Given the description of an element on the screen output the (x, y) to click on. 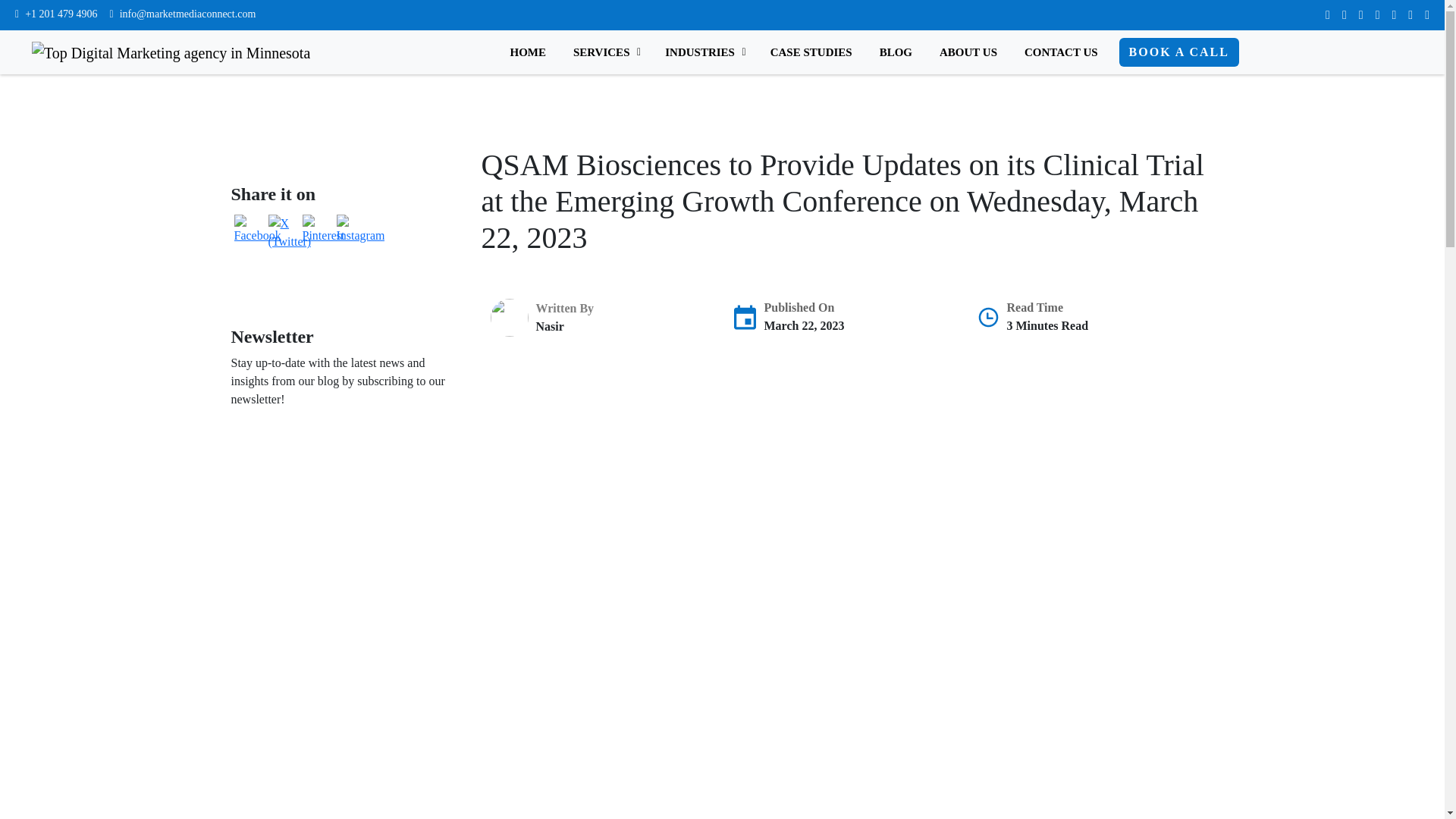
BOOK A CALL (1179, 51)
Facebook (256, 229)
SERVICES (605, 52)
CONTACT US (1060, 52)
HOME (527, 52)
ABOUT US (968, 52)
INDUSTRIES (703, 52)
Top Digital Marketing agency in Minnesota (171, 52)
CASE STUDIES (811, 52)
Pinterest (322, 229)
